Given the description of an element on the screen output the (x, y) to click on. 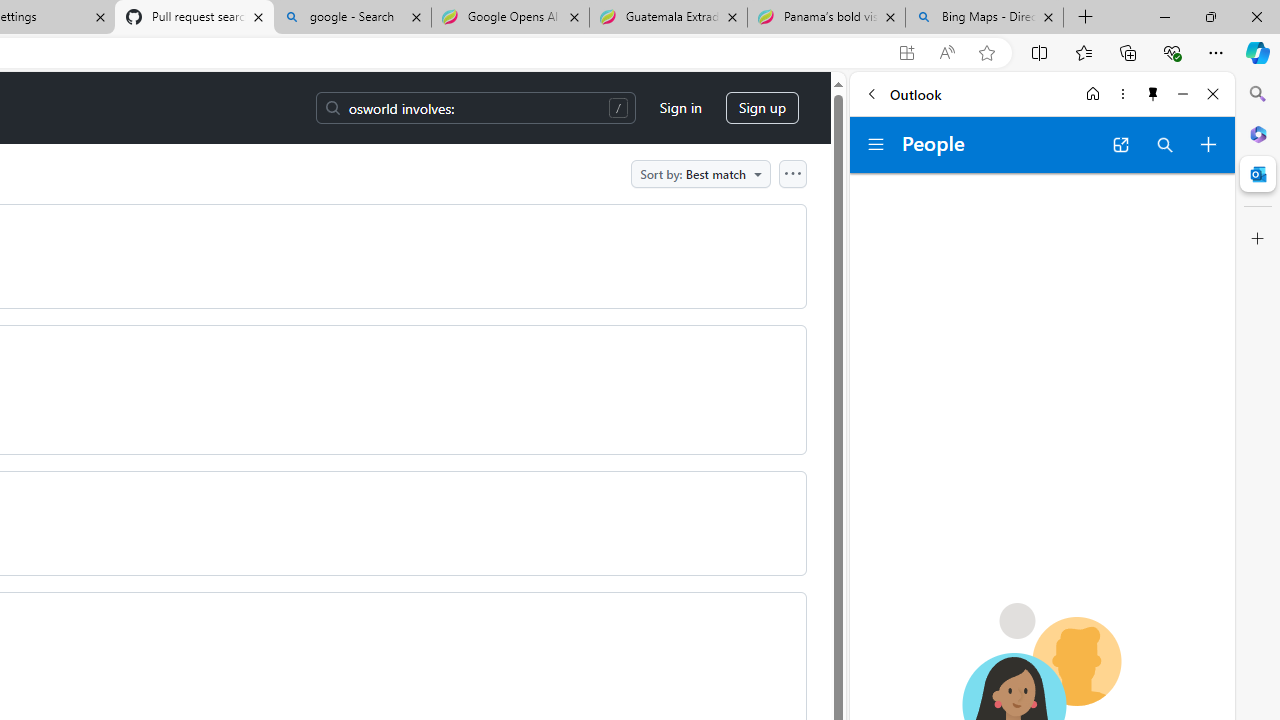
Folder navigation (876, 144)
Create new contact (1208, 144)
